Given the description of an element on the screen output the (x, y) to click on. 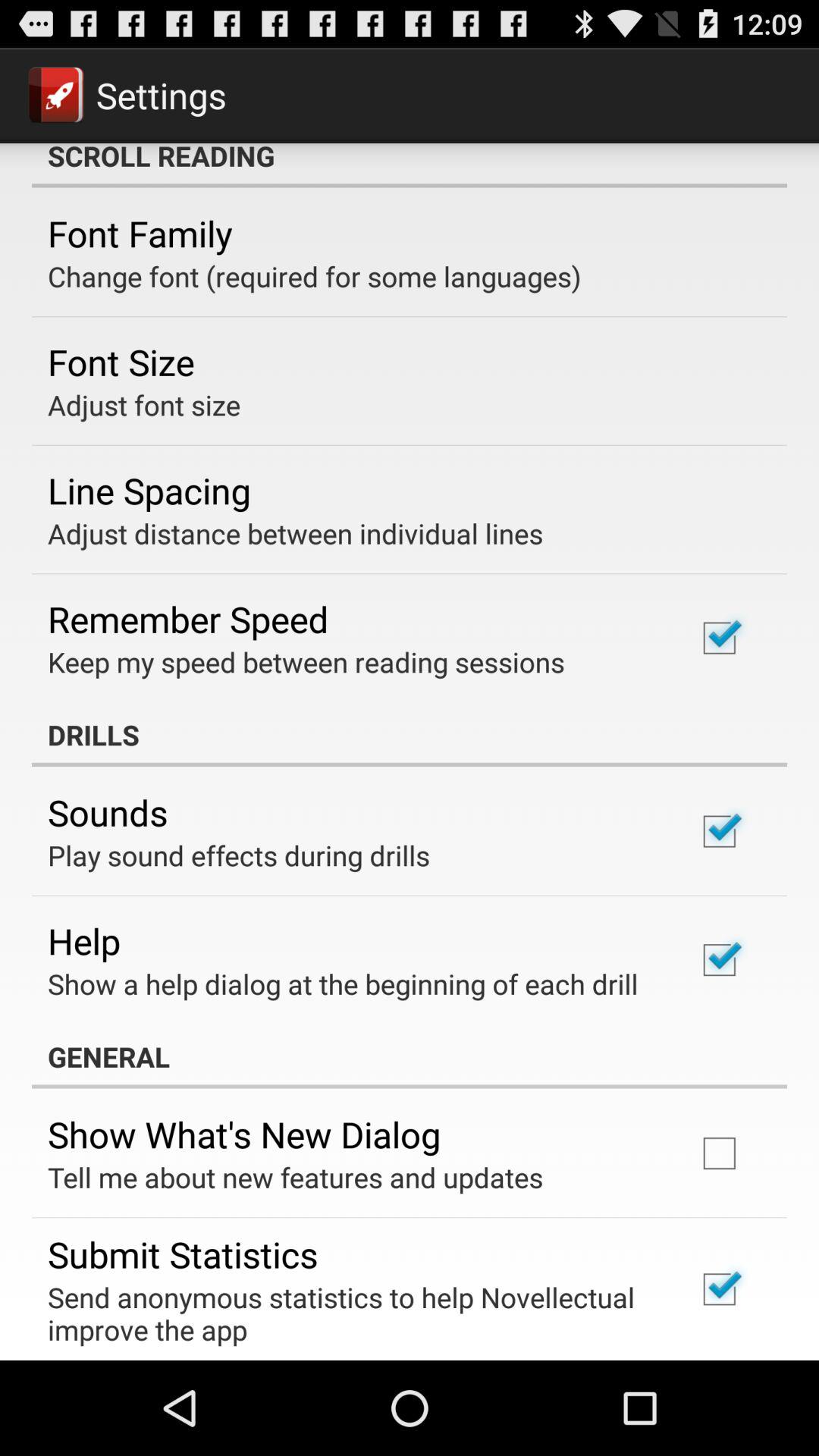
press the app above adjust distance between icon (148, 490)
